Given the description of an element on the screen output the (x, y) to click on. 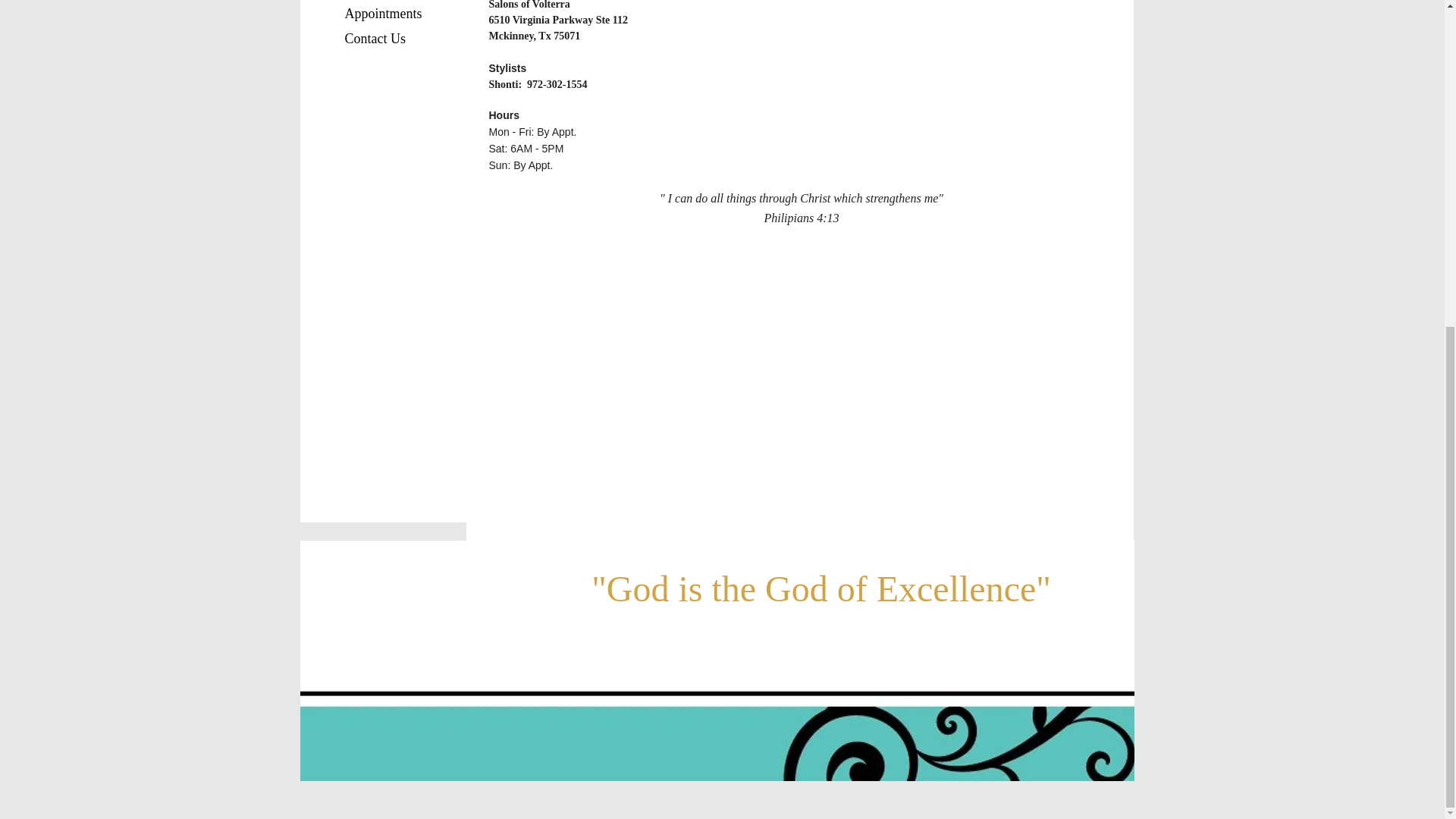
Appointments (382, 13)
Contact Us (374, 38)
